Given the description of an element on the screen output the (x, y) to click on. 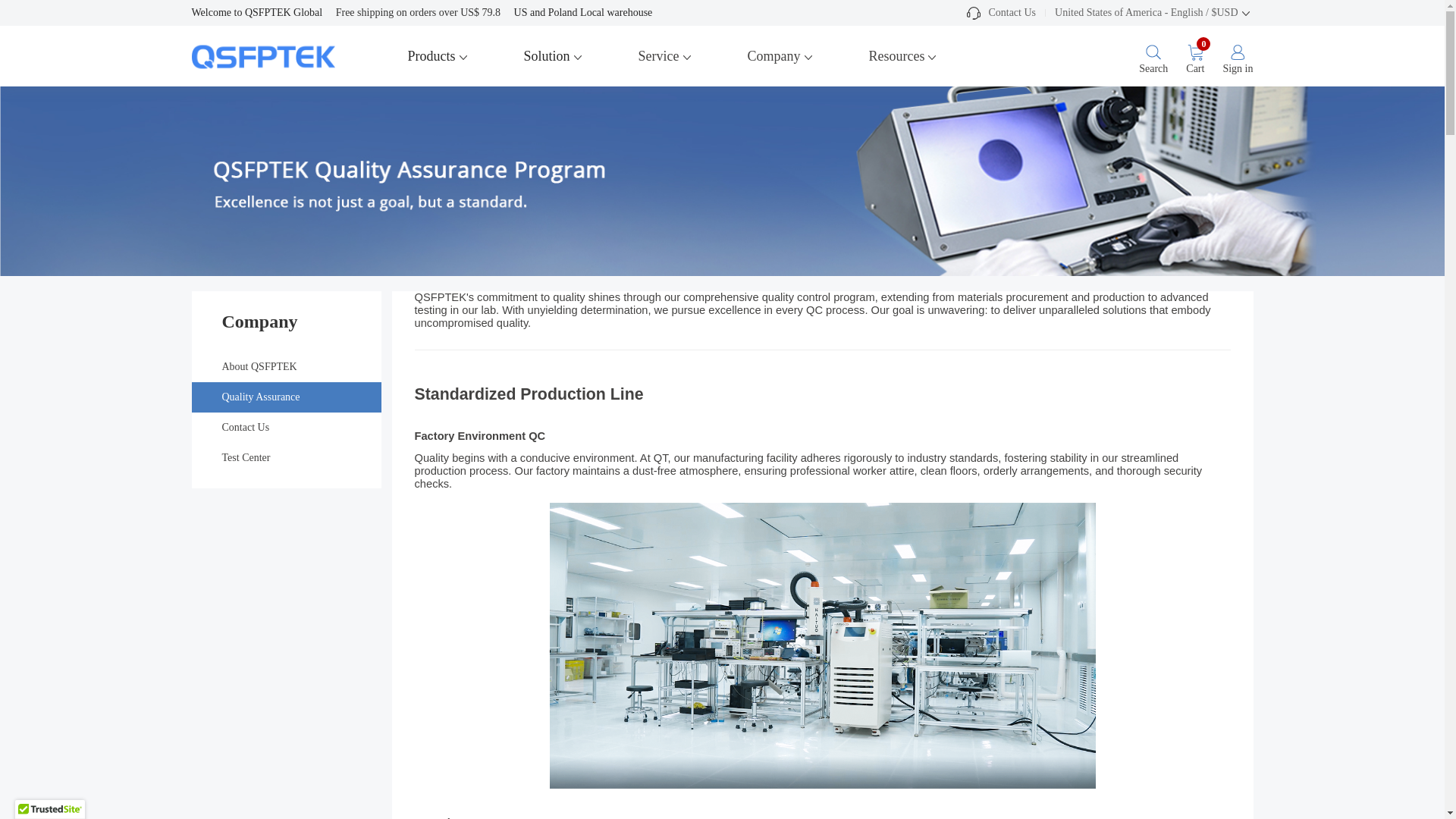
LiveChat chat widget (1397, 764)
Products (438, 55)
TrustedSite Certified (49, 809)
Contact Us (1000, 12)
